Given the description of an element on the screen output the (x, y) to click on. 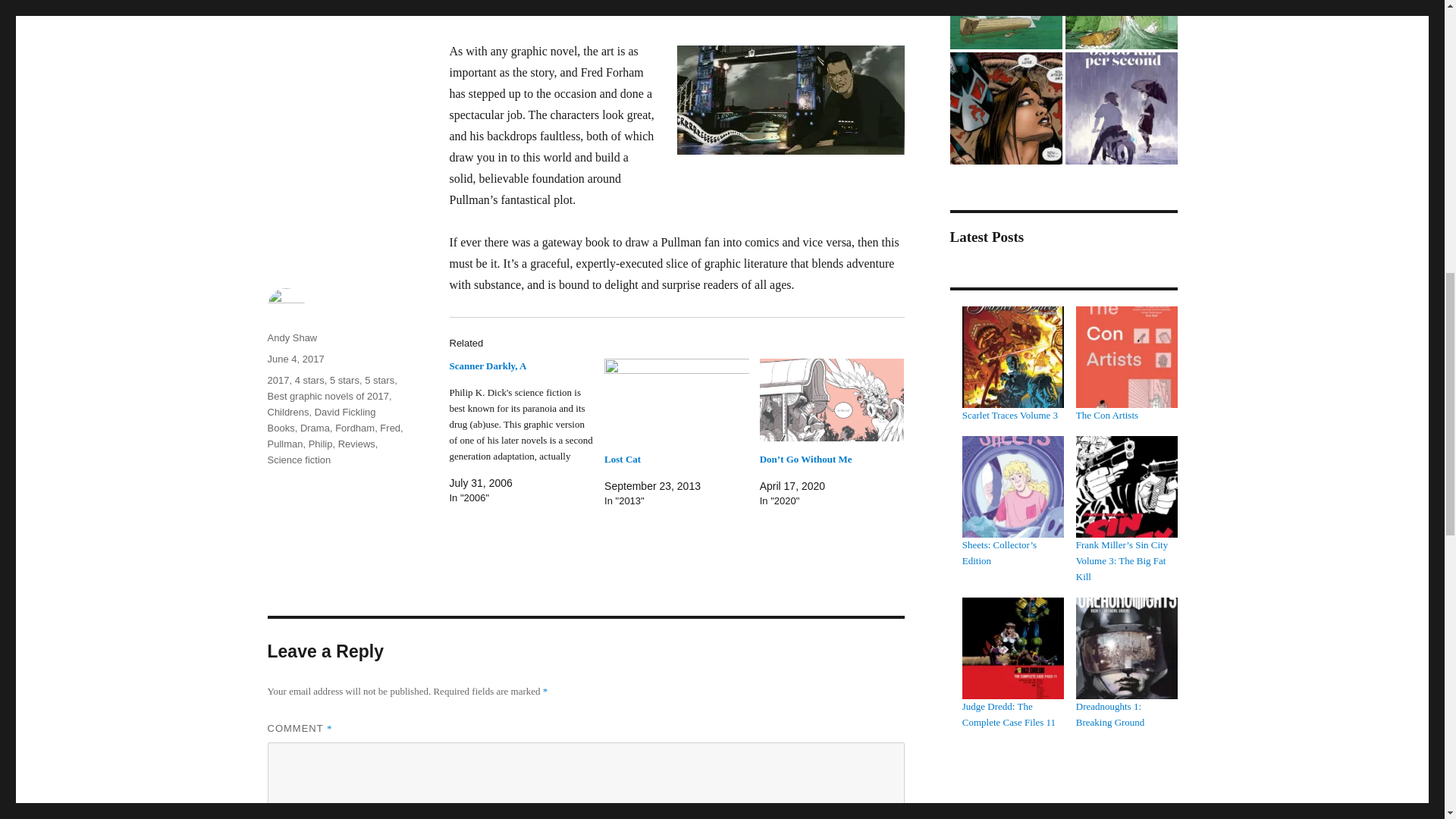
Batman Versus Bane (1005, 108)
Drama (314, 428)
Aldebaran 3: The Creature (1005, 24)
Pullman, Philip (298, 443)
Scanner Darkly, A (486, 365)
Betelgeuse 2: The Caves (1120, 24)
5 stars (344, 379)
5,000 km Per Second (1120, 108)
Andy Shaw (291, 337)
Scanner Darkly, A (526, 432)
June 4, 2017 (294, 358)
4 stars (309, 379)
Fordham, Fred (367, 428)
Lost Cat (622, 459)
Scanner Darkly, A (486, 365)
